Given the description of an element on the screen output the (x, y) to click on. 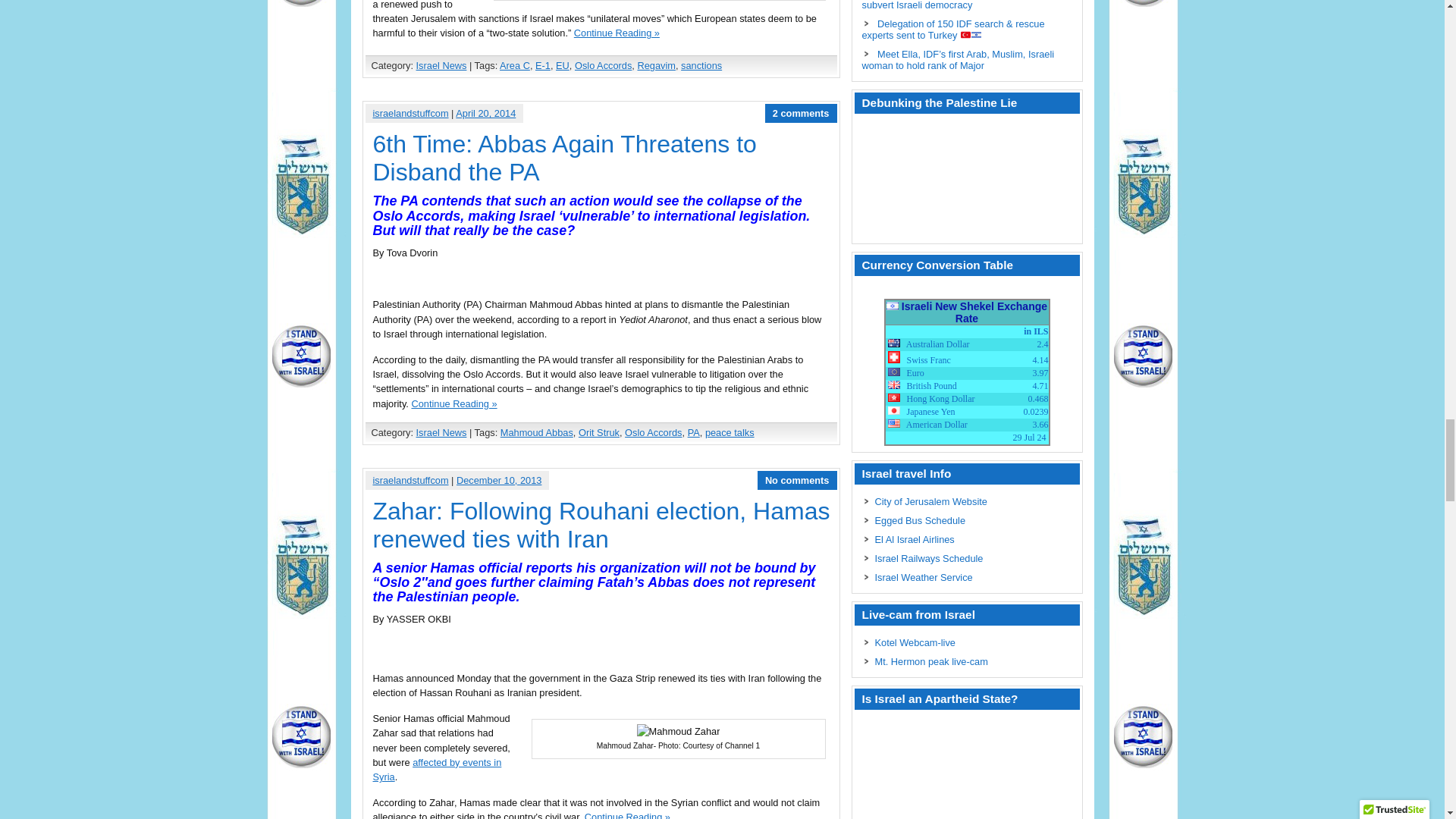
Posts by israelandstuffcom (410, 480)
Mahmoud Zahar (678, 730)
Posts by israelandstuffcom (410, 112)
